Given the description of an element on the screen output the (x, y) to click on. 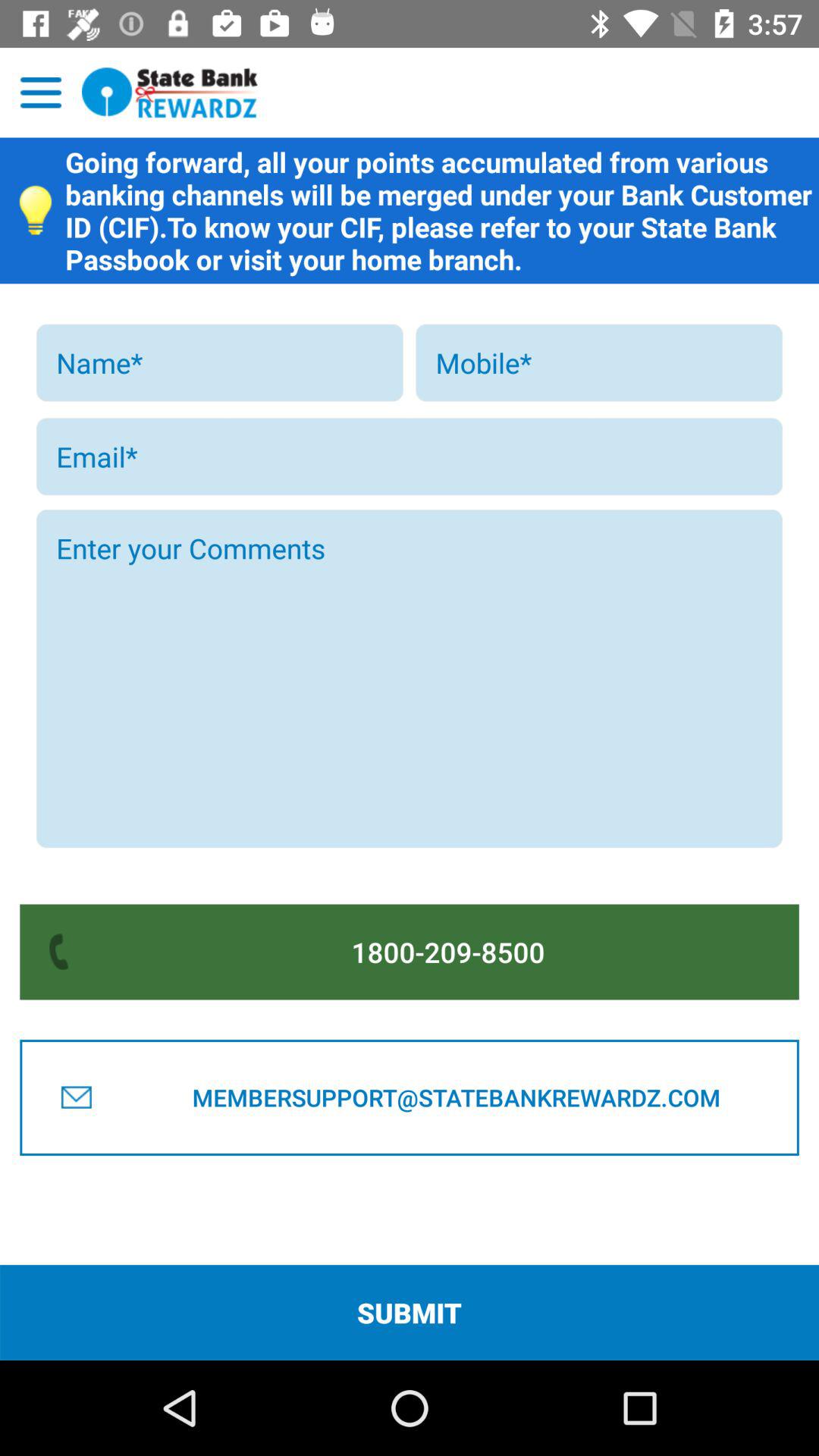
turn off the button below the membersupport@statebankrewardz.com button (409, 1312)
